Given the description of an element on the screen output the (x, y) to click on. 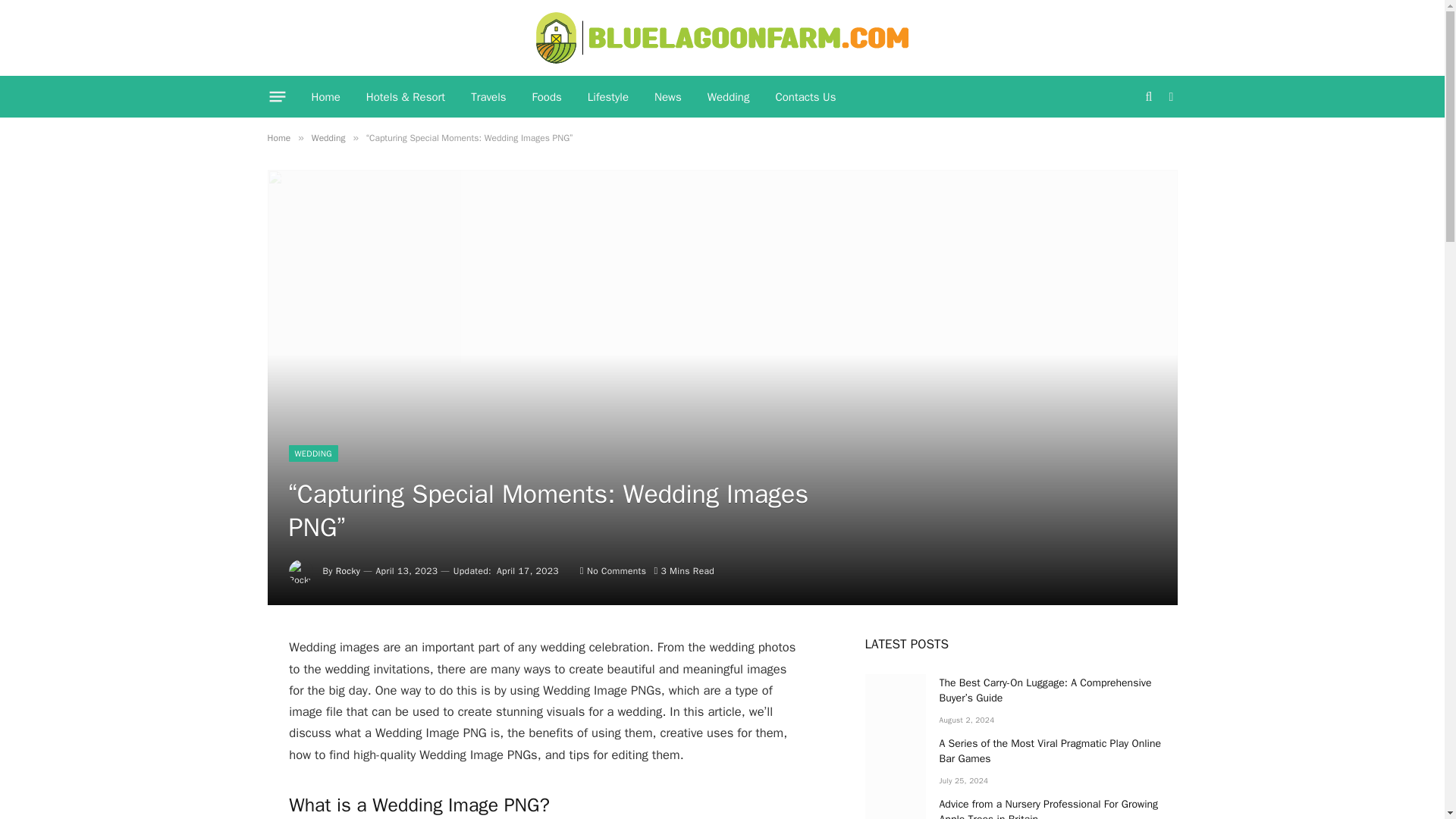
Rocky (348, 571)
News (668, 96)
Switch to Dark Design - easier on eyes. (1168, 96)
Foods (547, 96)
Home (325, 96)
No Comments (612, 571)
Wedding (328, 137)
Blue Lagoon Farm (721, 37)
Wedding (728, 96)
Posts by Rocky (348, 571)
Home (277, 137)
Contacts Us (804, 96)
Travels (488, 96)
Lifestyle (608, 96)
WEDDING (312, 453)
